Given the description of an element on the screen output the (x, y) to click on. 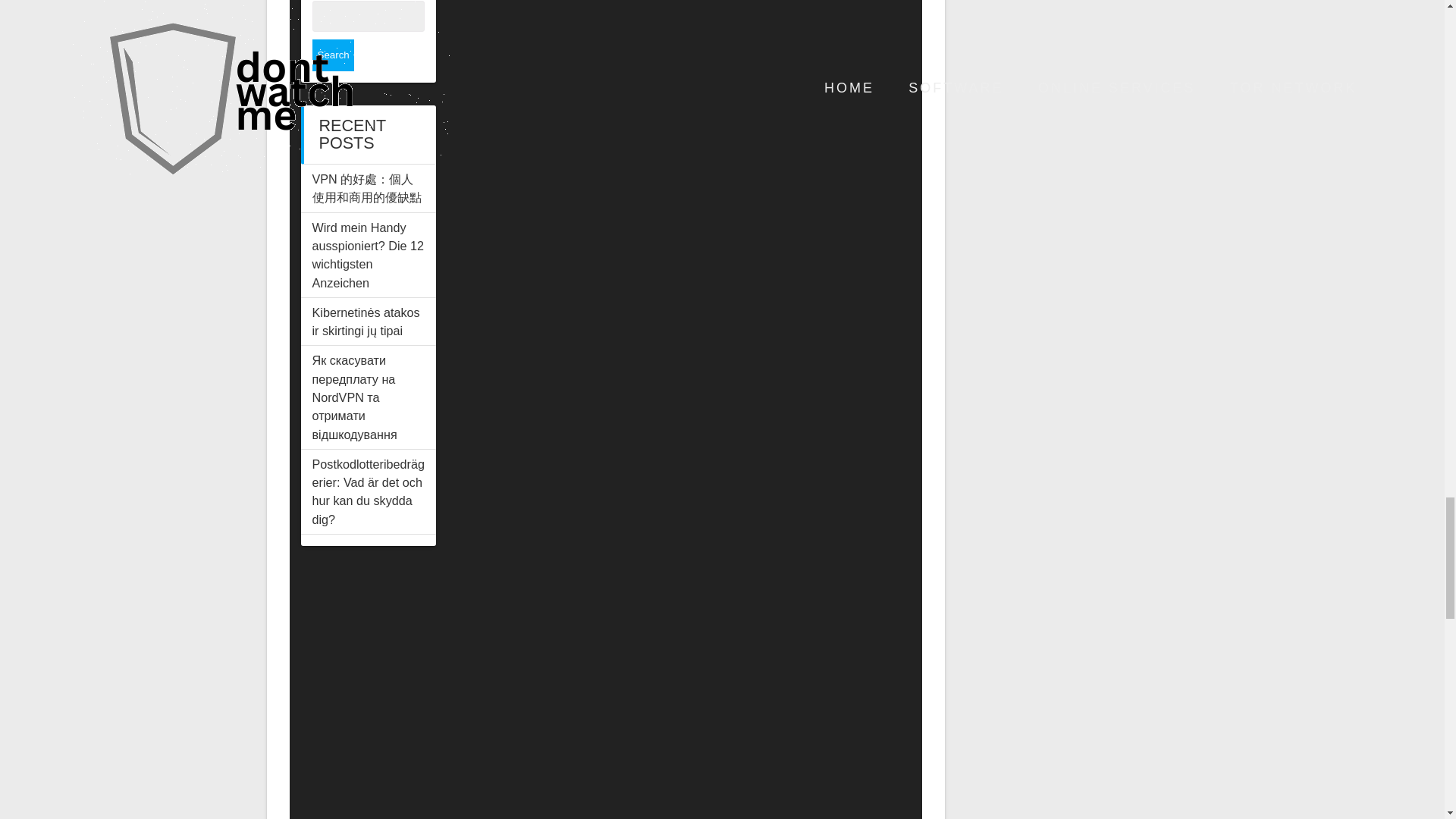
Search (333, 55)
Search (333, 55)
Wird mein Handy ausspioniert? Die 12 wichtigsten Anzeichen (369, 254)
